Given the description of an element on the screen output the (x, y) to click on. 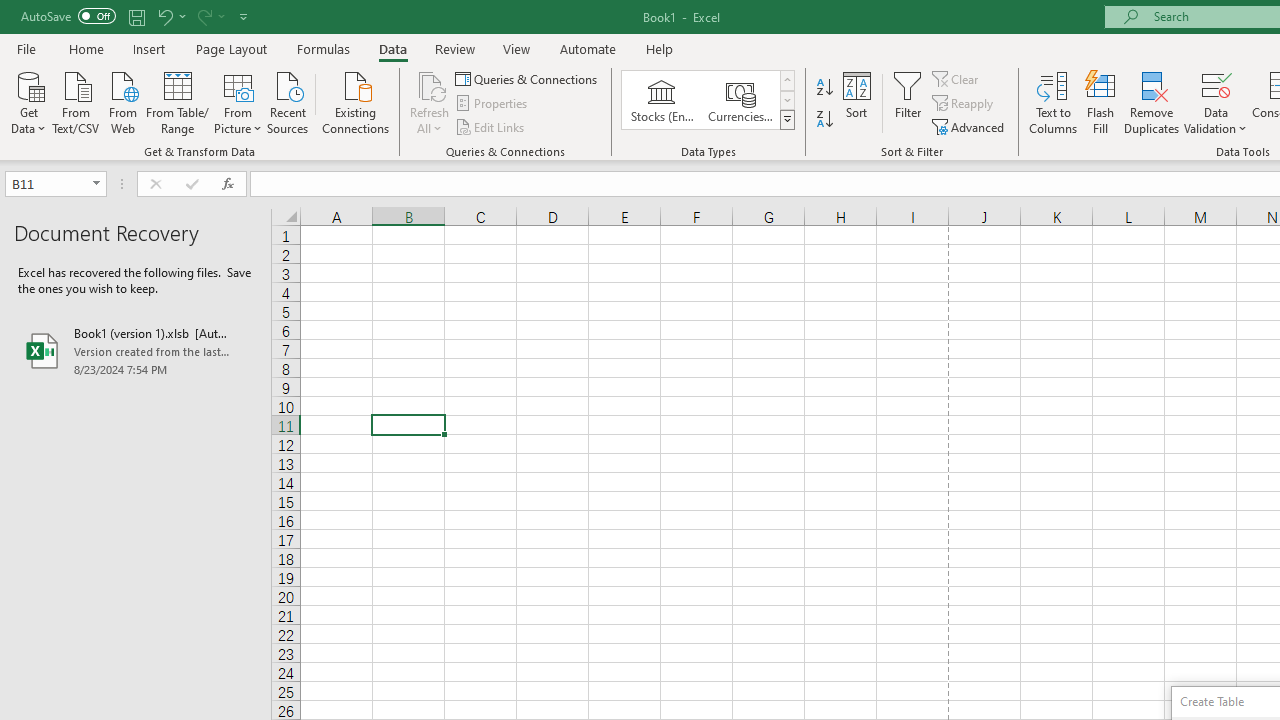
Reapply (964, 103)
Insert (149, 48)
Sort A to Z (824, 87)
Save (136, 15)
Text to Columns... (1053, 102)
Home (86, 48)
Remove Duplicates (1151, 102)
Refresh All (429, 102)
Data (392, 48)
Recent Sources (287, 101)
Quick Access Toolbar (136, 16)
Row up (786, 79)
From Picture (238, 101)
